Given the description of an element on the screen output the (x, y) to click on. 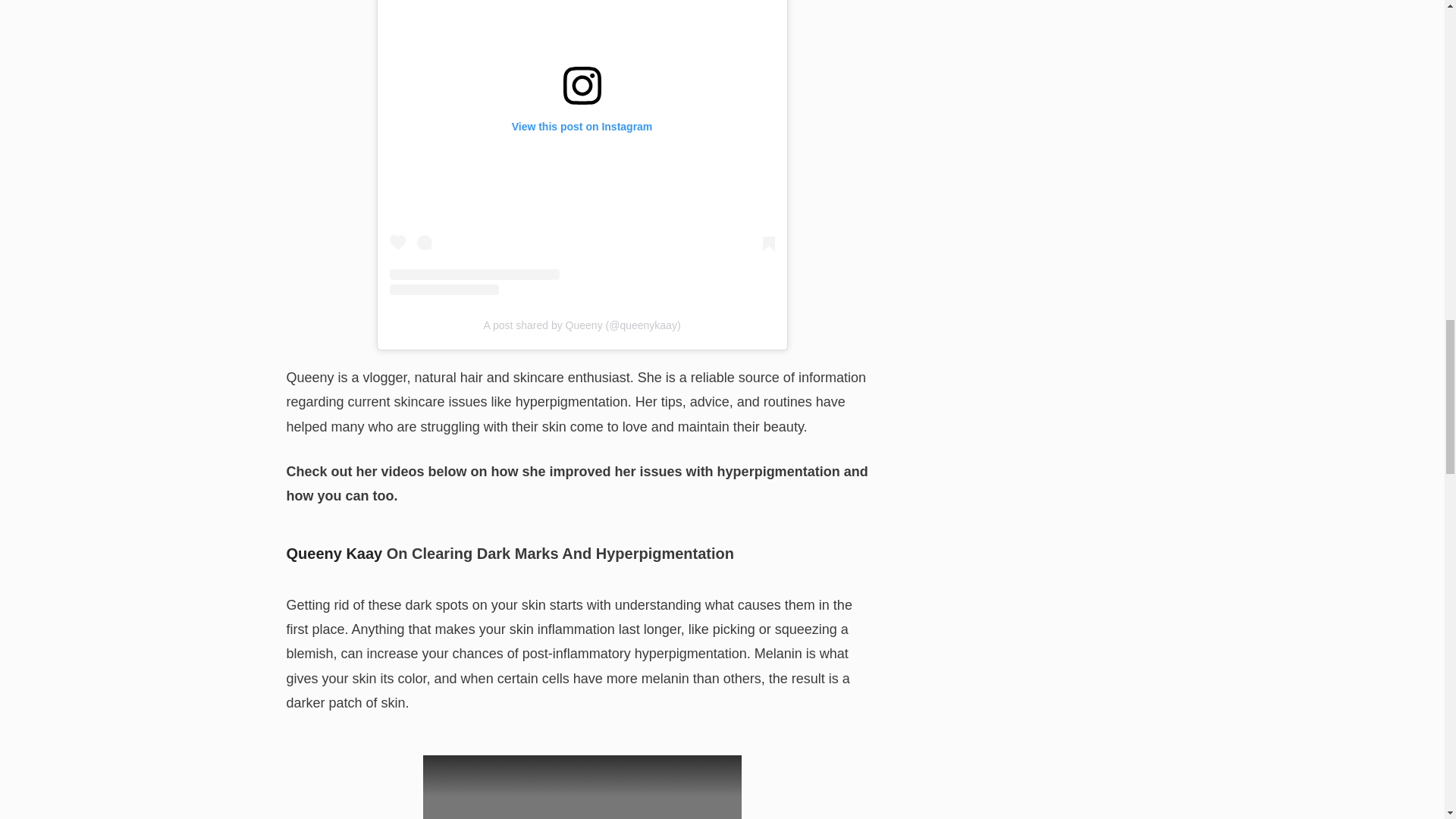
View this post on Instagram (582, 147)
Queeny Kaay (334, 553)
